Given the description of an element on the screen output the (x, y) to click on. 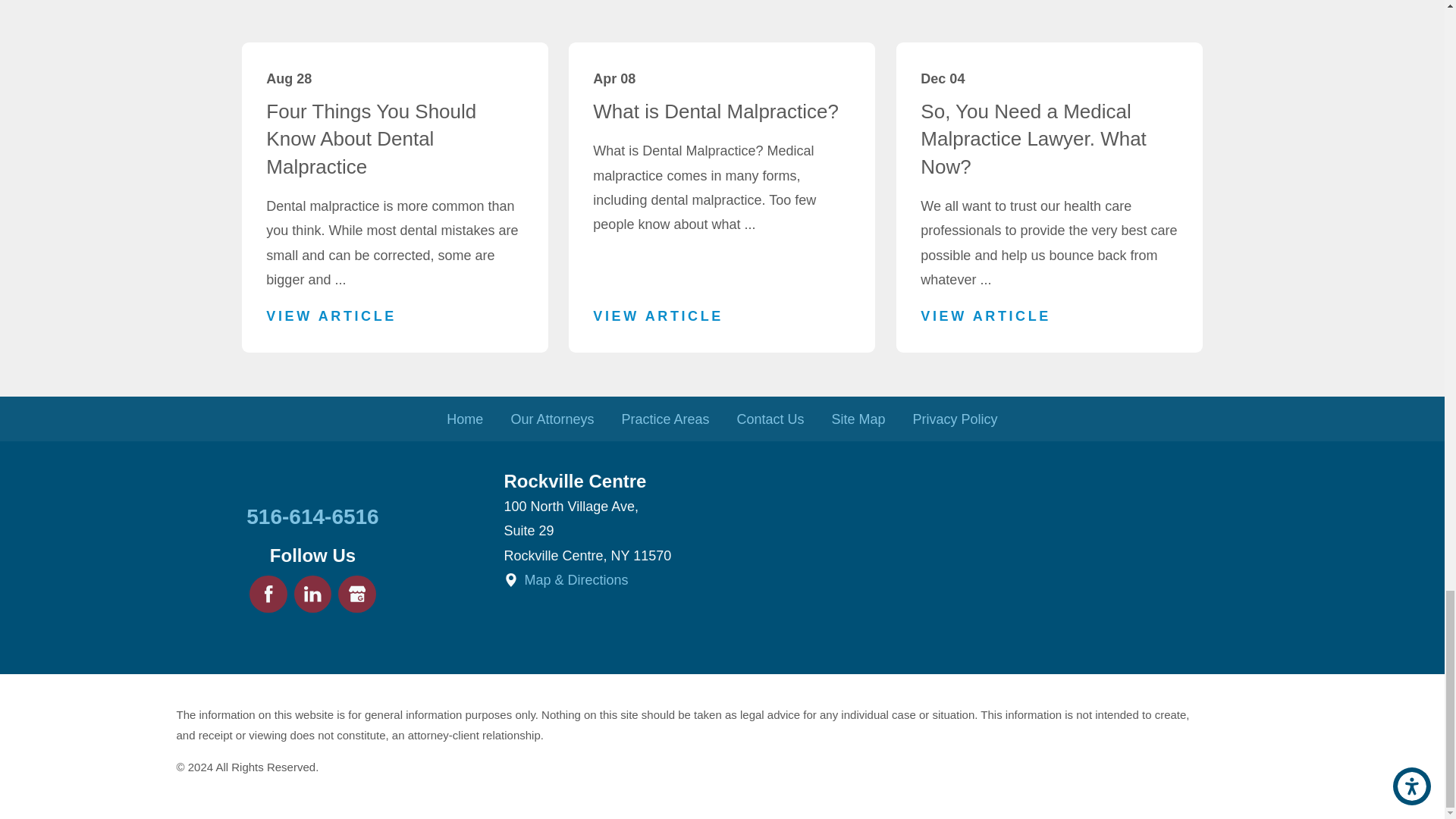
Site Icon (509, 580)
Facebook (267, 594)
LinkedIn (312, 594)
Google My Business (356, 594)
